Given the description of an element on the screen output the (x, y) to click on. 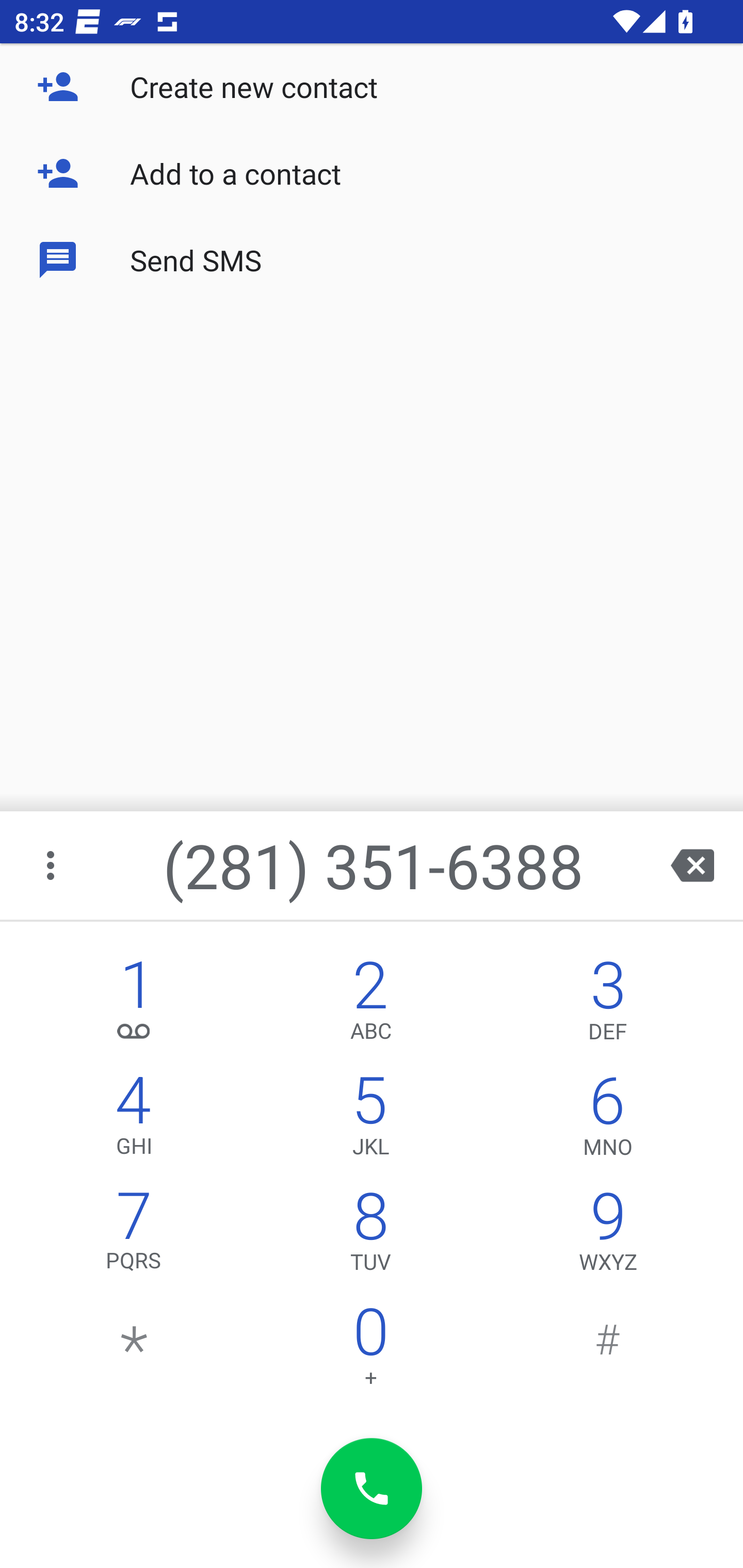
Create new contact (371, 86)
Add to a contact (371, 173)
Send SMS (371, 259)
(281) 351-6388 (372, 865)
backspace (692, 865)
More options (52, 865)
1, 1 (133, 1005)
2,ABC 2 ABC (370, 1005)
3,DEF 3 DEF (607, 1005)
4,GHI 4 GHI (133, 1120)
5,JKL 5 JKL (370, 1120)
6,MNO 6 MNO (607, 1120)
7,PQRS 7 PQRS (133, 1235)
8,TUV 8 TUV (370, 1235)
9,WXYZ 9 WXYZ (607, 1235)
* (133, 1351)
0 0 + (370, 1351)
# (607, 1351)
dial (371, 1488)
